Given the description of an element on the screen output the (x, y) to click on. 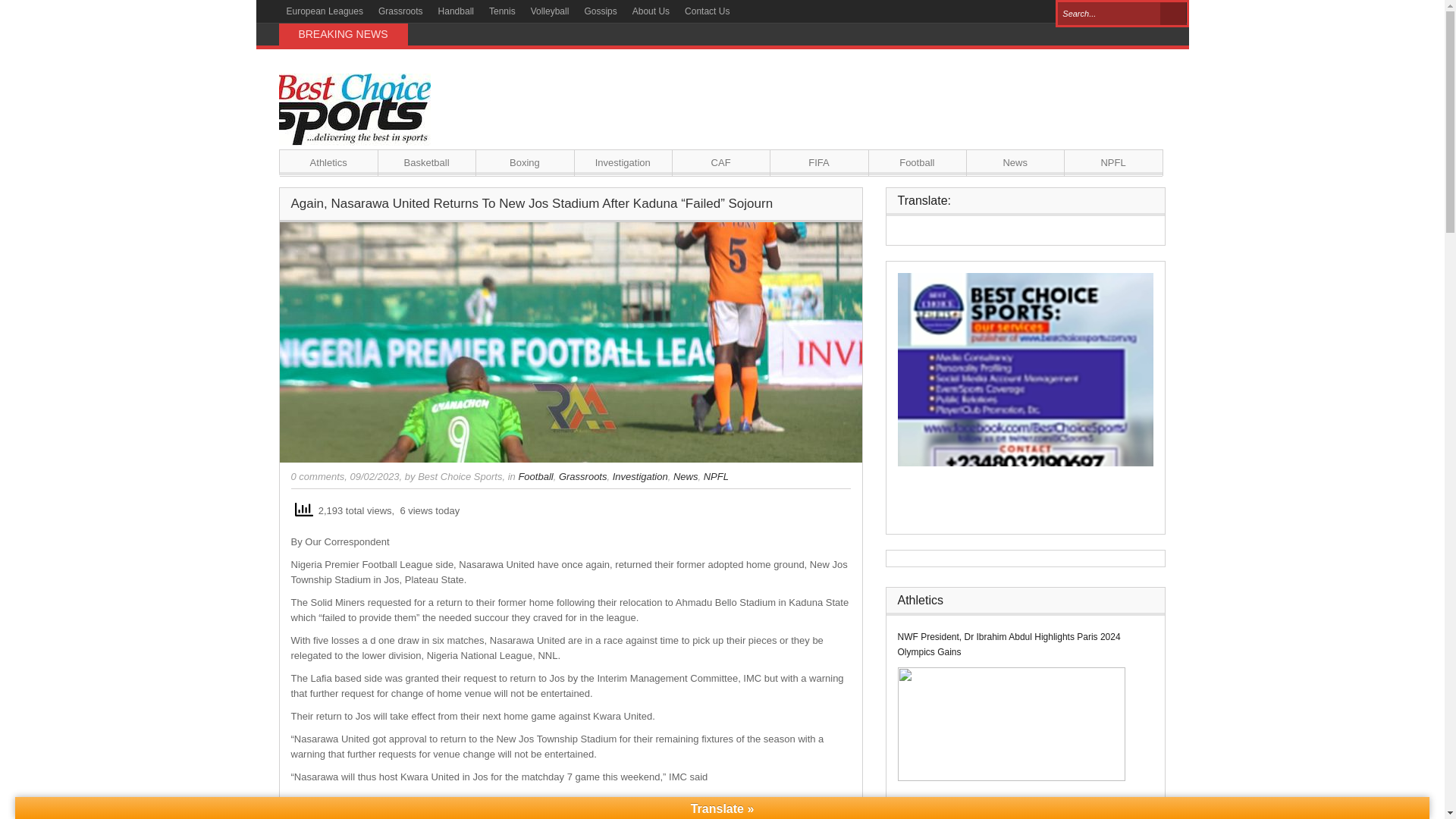
News (1015, 162)
FIFA (818, 162)
Posts by Best Choice Sports (459, 476)
Tennis (501, 11)
CAF (720, 162)
News (685, 476)
Investigation (640, 476)
European Leagues (325, 11)
About Us (650, 11)
Investigation (622, 162)
